Given the description of an element on the screen output the (x, y) to click on. 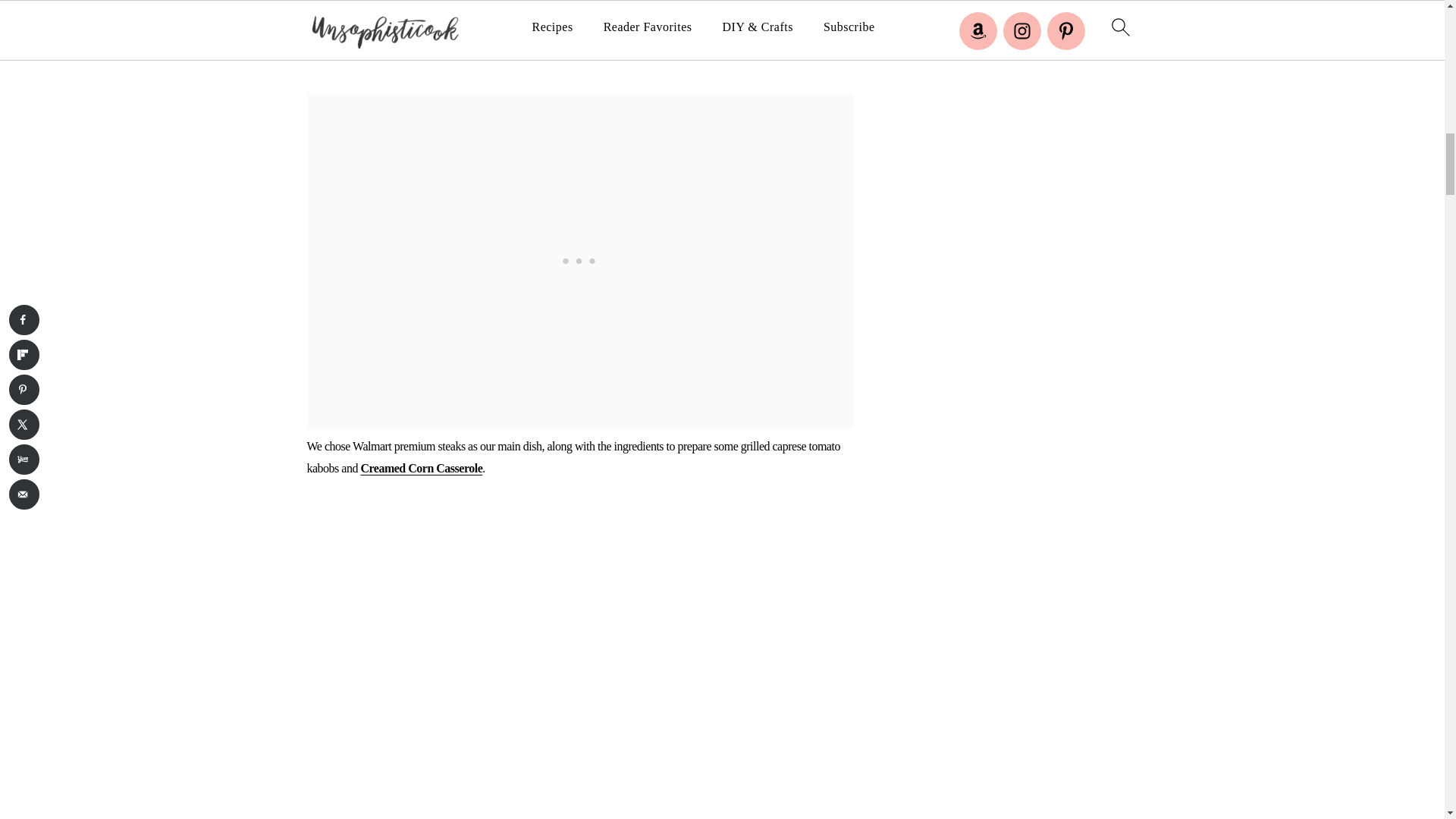
Creamed Corn Casserole (420, 468)
Creamed Corn Casserole (420, 468)
